Given the description of an element on the screen output the (x, y) to click on. 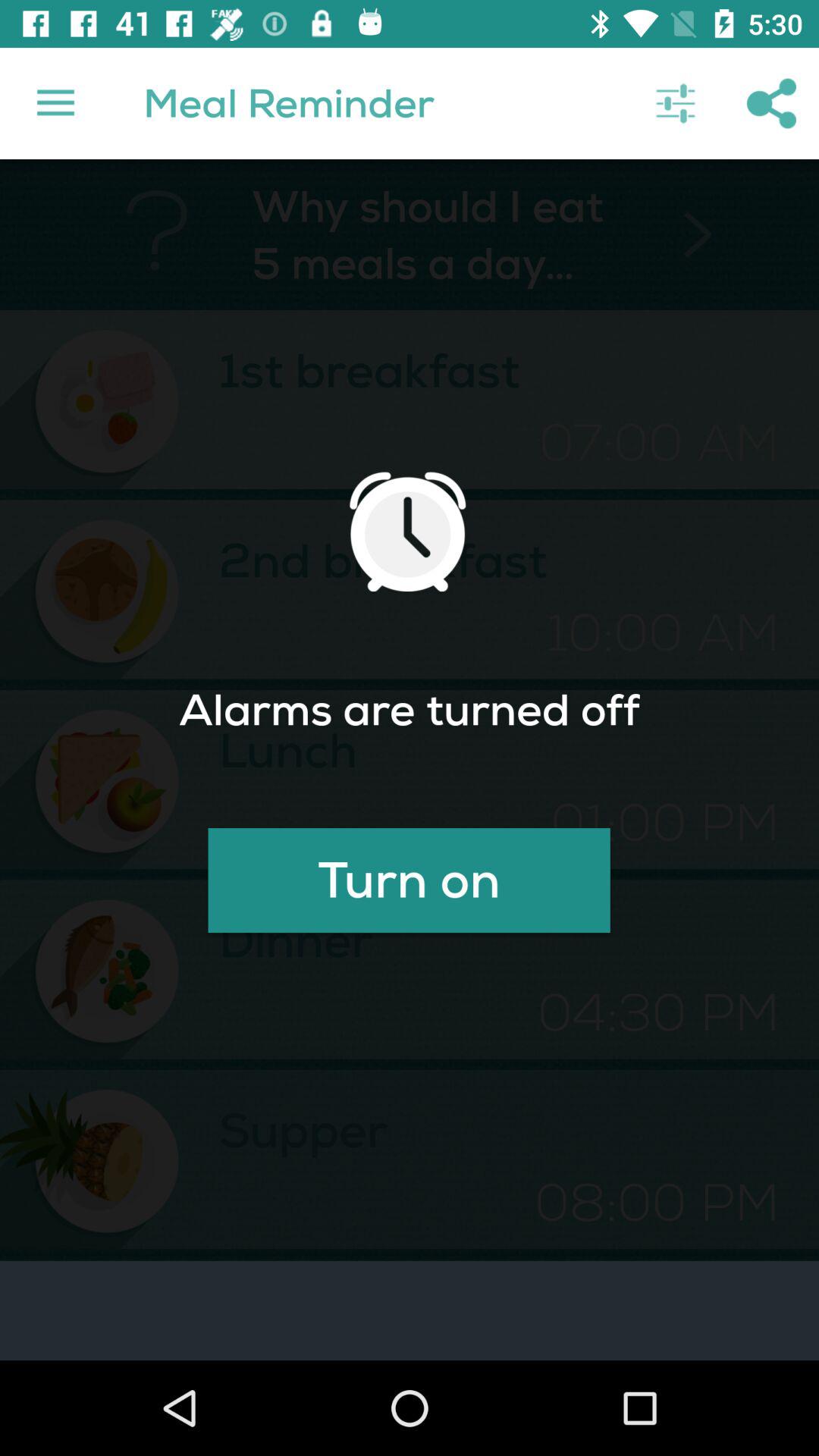
turn off the item next to the meal reminder (675, 103)
